Given the description of an element on the screen output the (x, y) to click on. 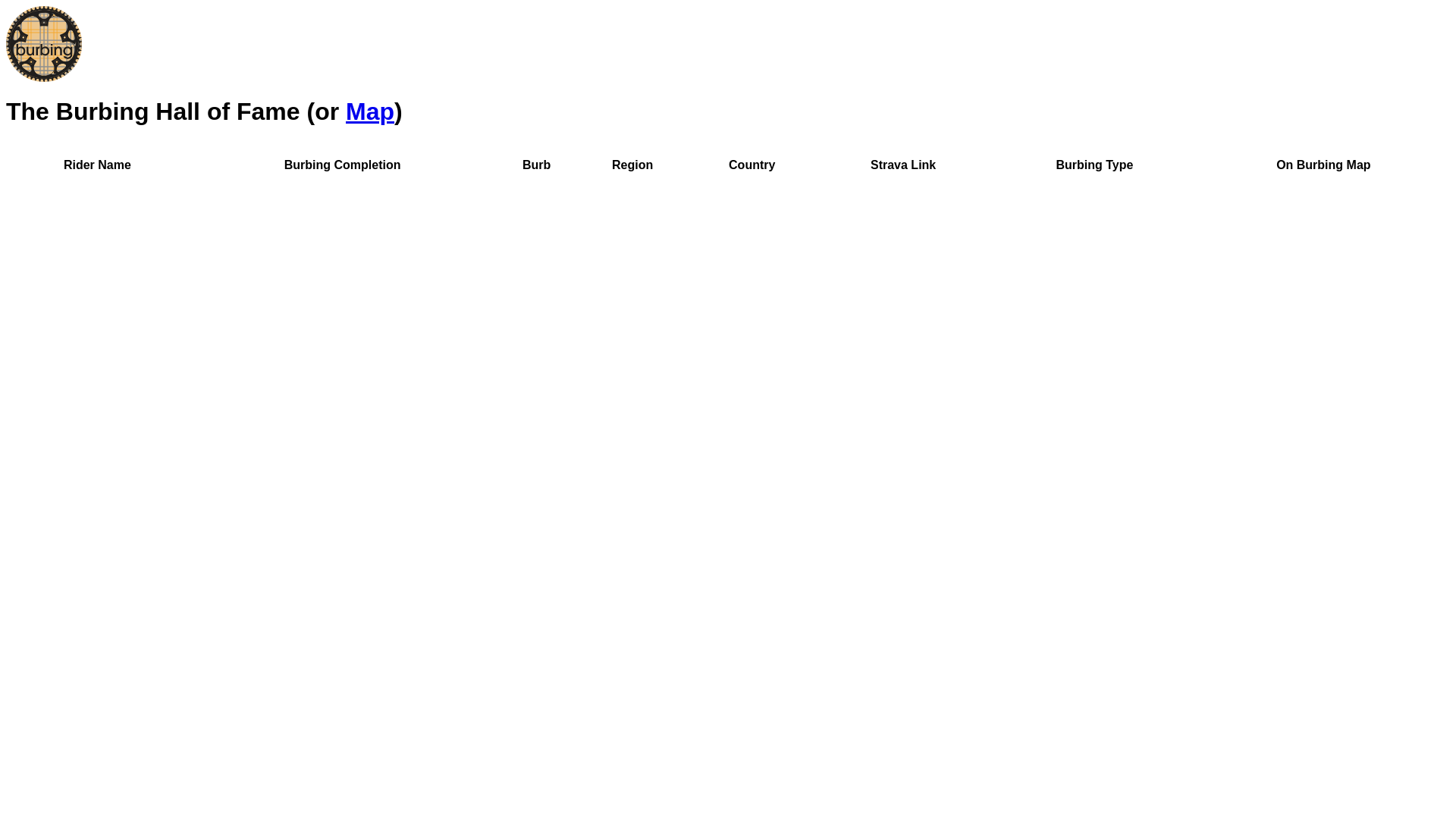
Map Element type: text (369, 111)
